Given the description of an element on the screen output the (x, y) to click on. 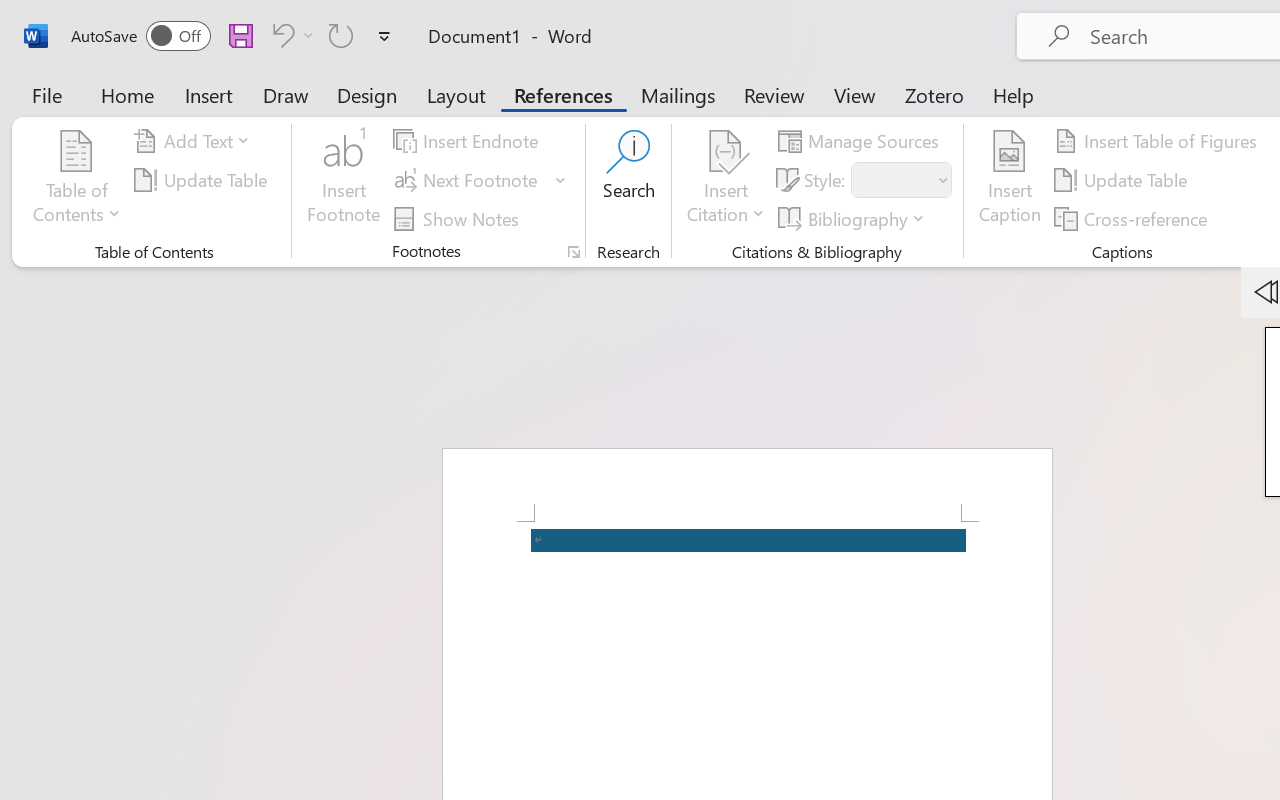
Style (892, 179)
Cross-reference... (1133, 218)
Undo Apply Quick Style Set (290, 35)
Undo Apply Quick Style Set (280, 35)
Table of Contents (77, 179)
Search (628, 179)
Repeat Accessibility Checker (341, 35)
Update Table... (204, 179)
